Given the description of an element on the screen output the (x, y) to click on. 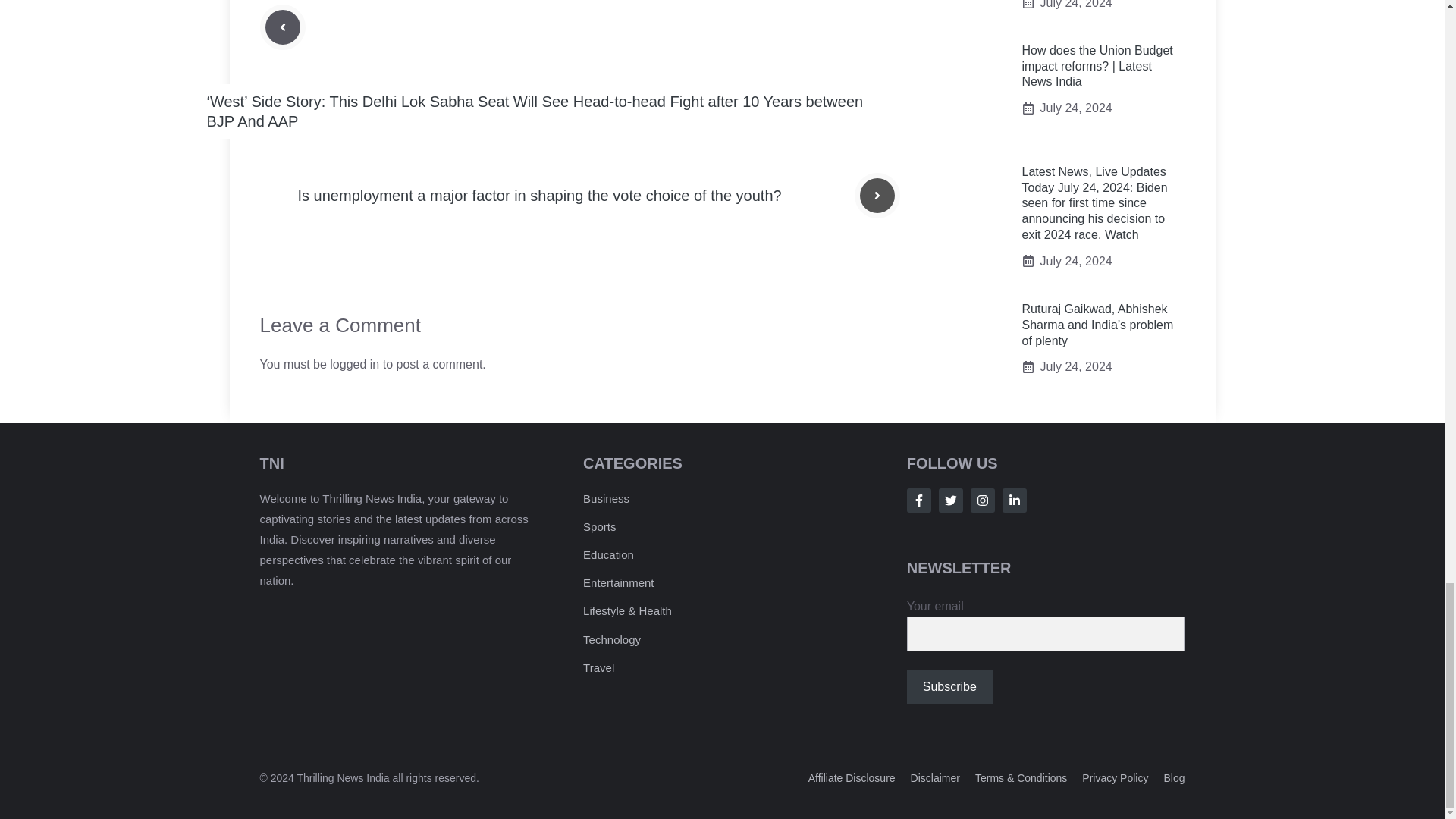
Subscribe (949, 686)
logged in (354, 364)
